Given the description of an element on the screen output the (x, y) to click on. 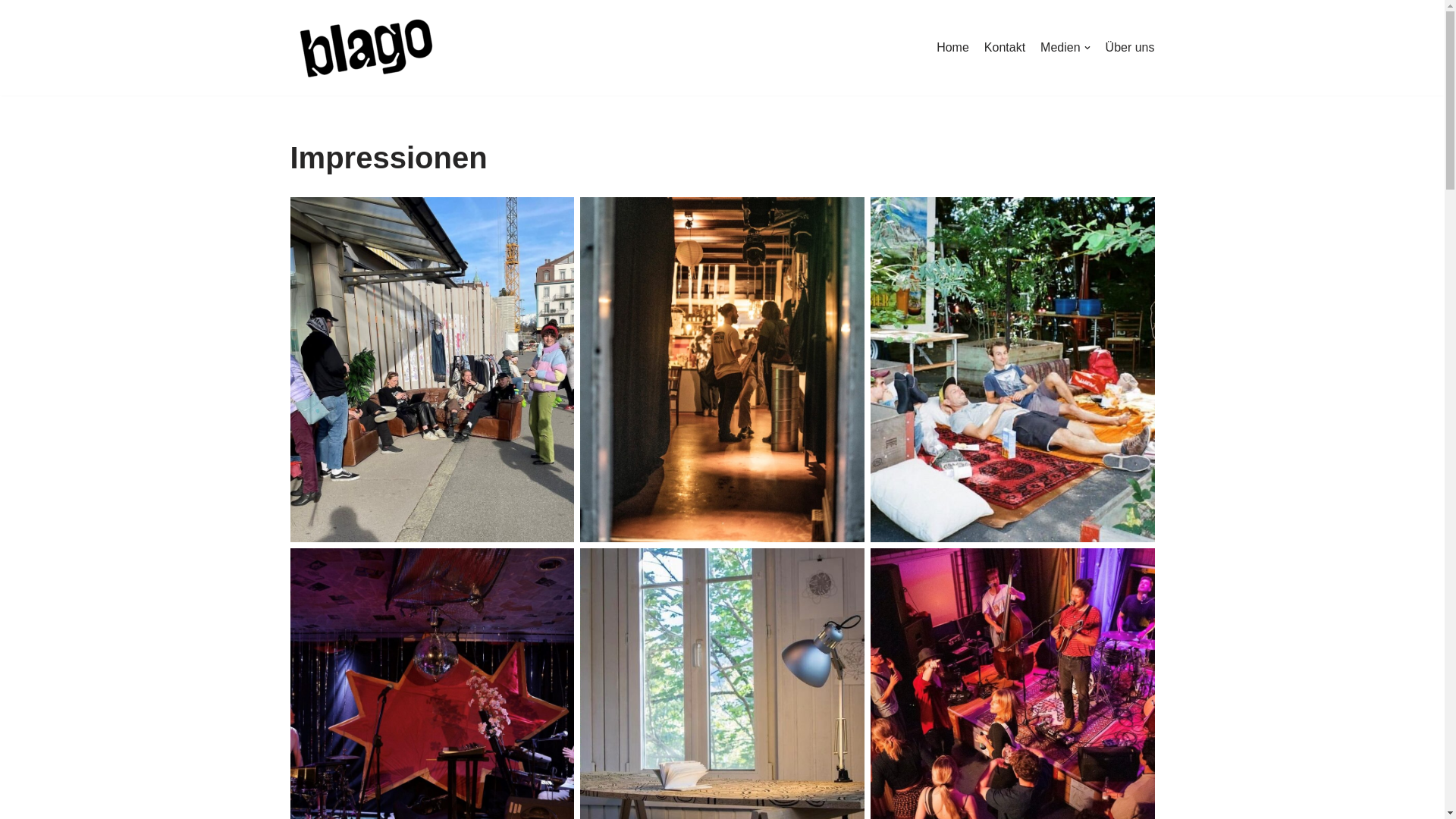
Kontakt Element type: text (1004, 47)
Home Element type: text (952, 47)
Medien Element type: text (1064, 47)
Zum Inhalt springen Element type: text (11, 31)
Blago Bung Element type: hover (365, 47)
